Given the description of an element on the screen output the (x, y) to click on. 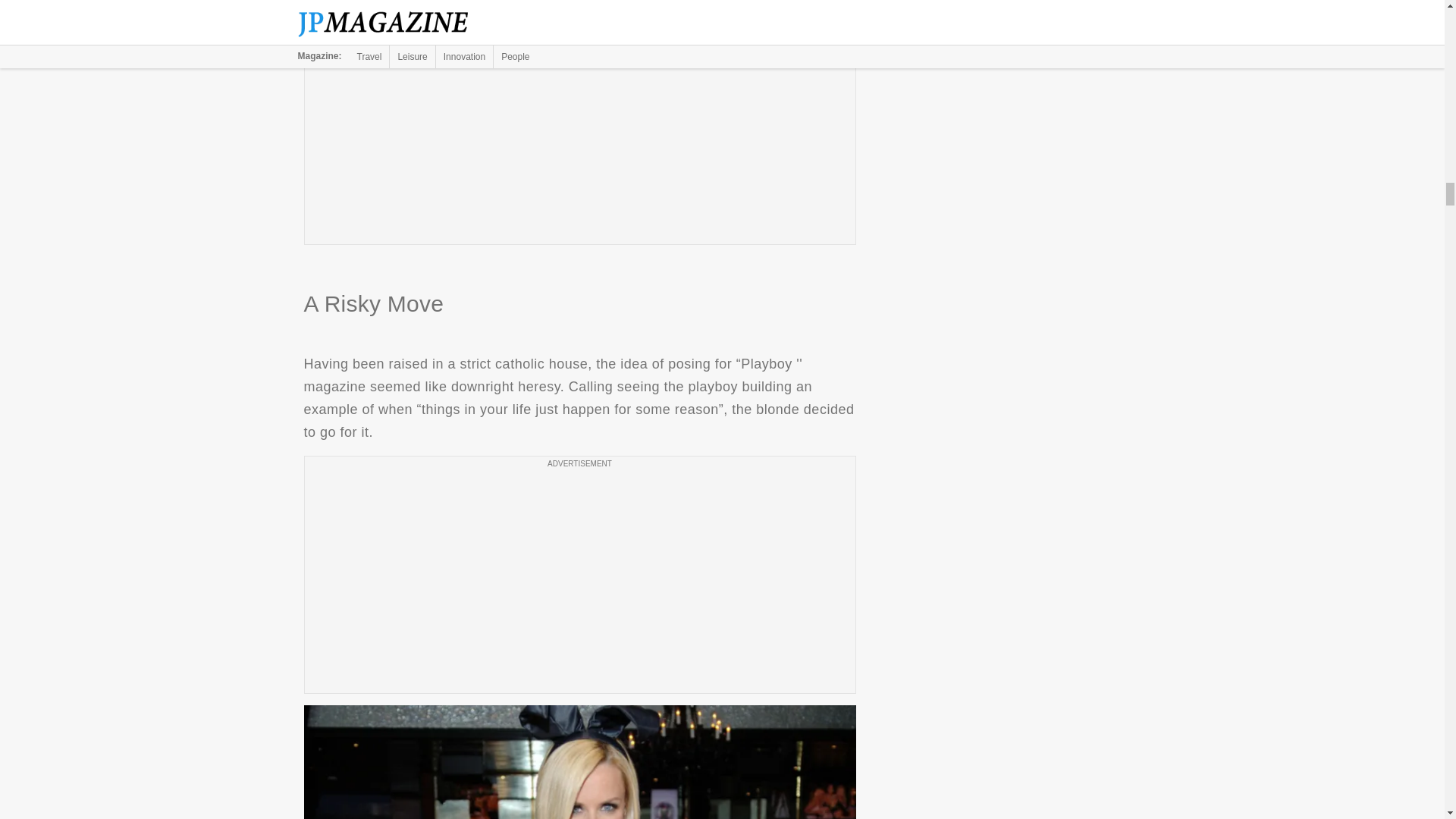
A Risky Move (579, 762)
